Given the description of an element on the screen output the (x, y) to click on. 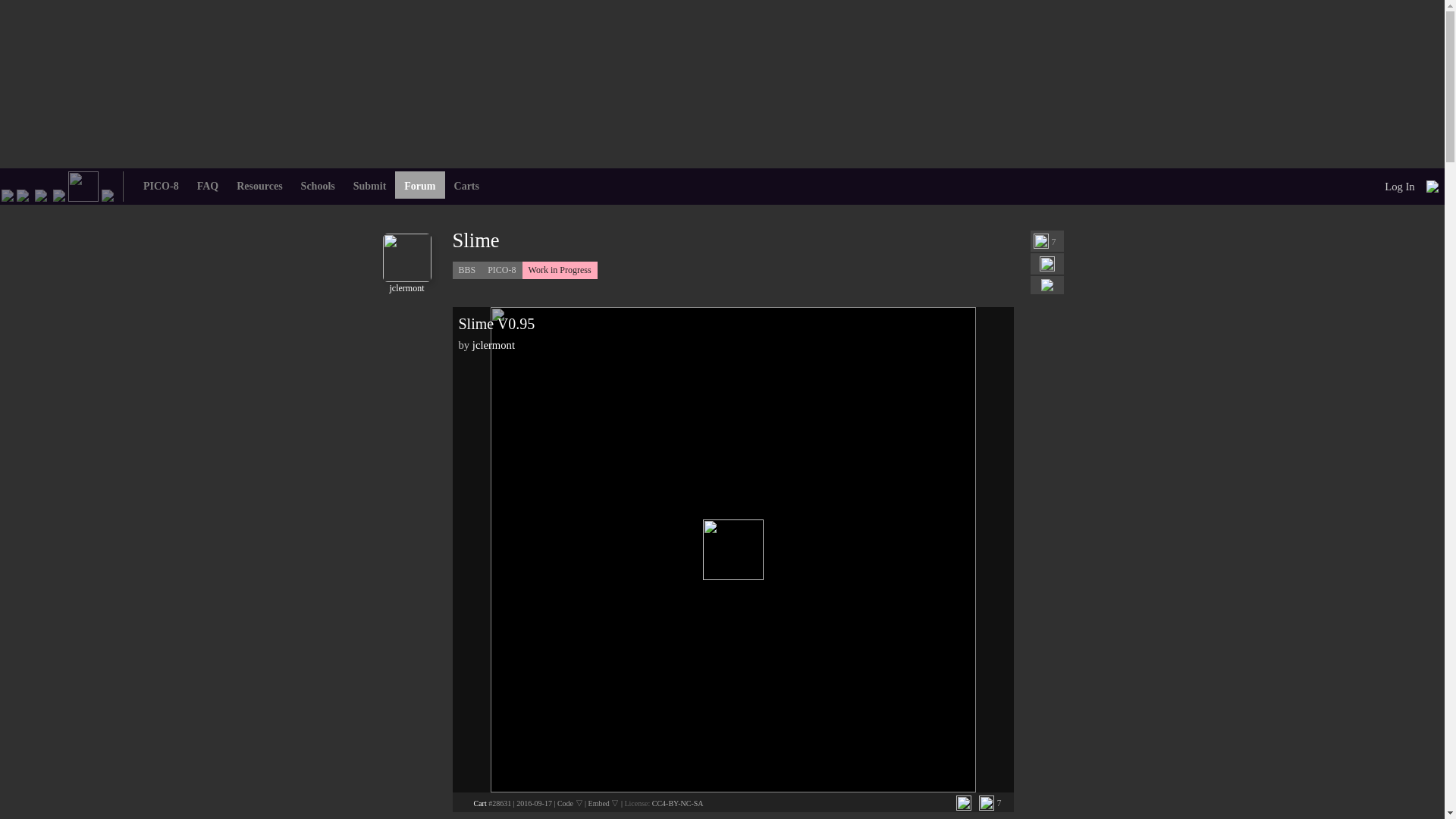
jclermont (405, 282)
Lexaloffle Games (7, 193)
Superblog (107, 193)
Add to your favourites collection (963, 802)
PICO-8 (22, 193)
2016-09-17 01:13:48 (533, 803)
Add to your favourites collection (1046, 263)
Picotron (58, 193)
Voxatron (40, 193)
Open Cartridge File (479, 803)
BBS (83, 184)
Slime (523, 240)
Give this post a star (1040, 240)
Give this post a star (985, 802)
